Given the description of an element on the screen output the (x, y) to click on. 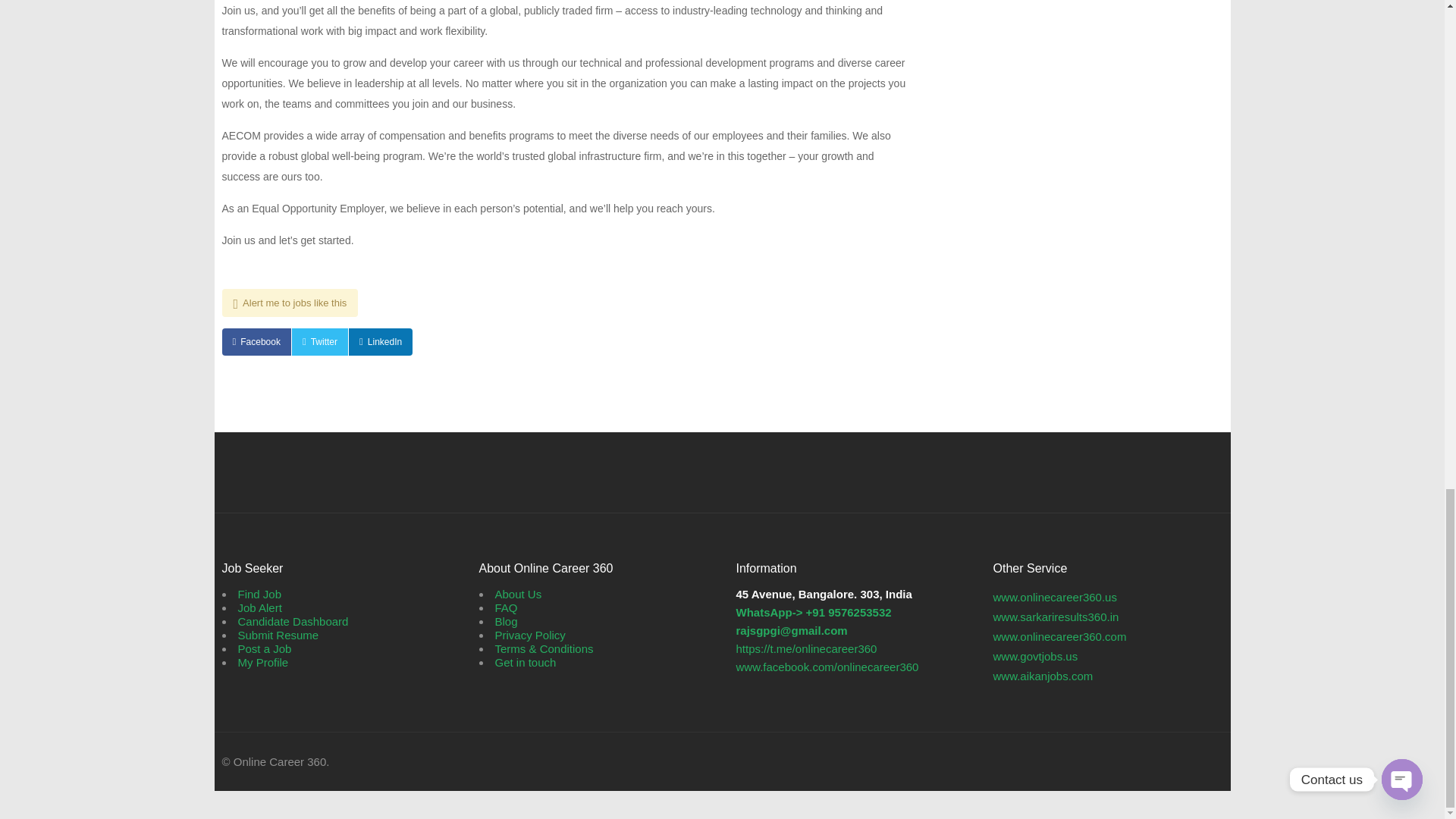
Twitter (319, 341)
LinkedIn (380, 341)
Alert me to jobs like this (289, 302)
Facebook (255, 341)
Twitter (319, 341)
